Given the description of an element on the screen output the (x, y) to click on. 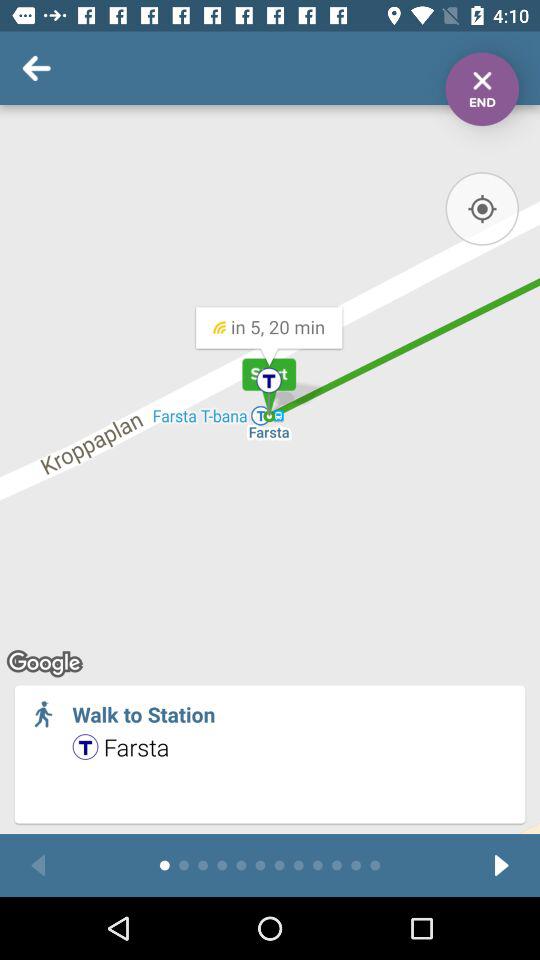
end wayfinding (482, 89)
